Given the description of an element on the screen output the (x, y) to click on. 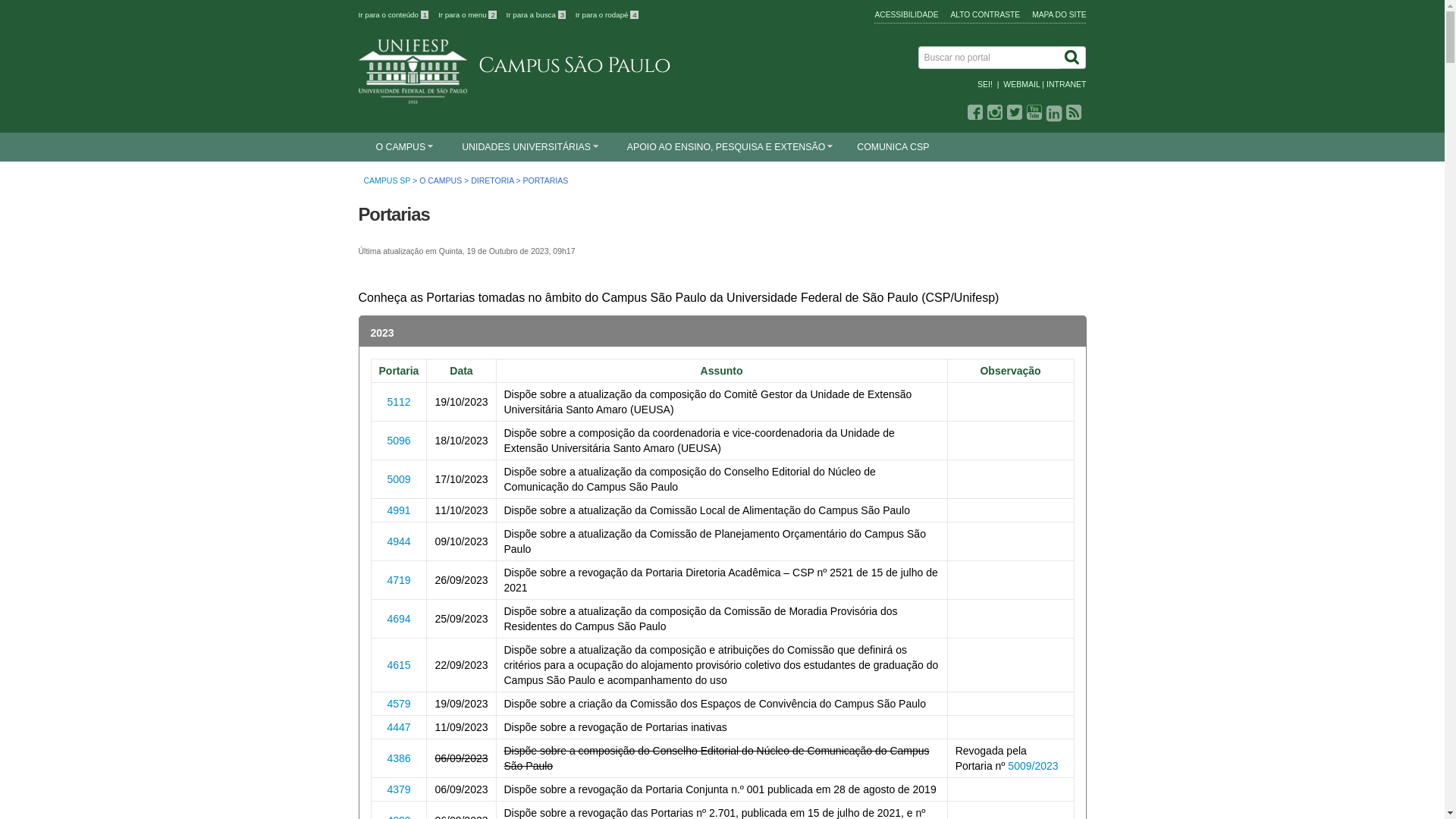
4991 Element type: text (398, 509)
CAMPUS SP Element type: text (387, 180)
4615 Element type: text (398, 664)
4379 Element type: text (398, 788)
5009 Element type: text (398, 479)
INTRANET Element type: text (1066, 83)
ACESSIBILIDADE Element type: text (906, 14)
2023 Element type: text (722, 331)
MAPA DO SITE Element type: text (1058, 14)
Ir para o menu 2 Element type: text (468, 14)
Ir para a busca 3 Element type: text (536, 14)
4694 Element type: text (398, 618)
5112 Element type: text (398, 401)
Portarias Element type: text (393, 213)
4944 Element type: text (398, 541)
4579 Element type: text (398, 703)
COMUNICA CSP Element type: text (892, 146)
5009/2023 Element type: text (1032, 765)
4719 Element type: text (398, 579)
Buscar no portal Element type: hover (989, 57)
WEBMAIL Element type: text (1021, 83)
ALTO CONTRASTE Element type: text (985, 14)
SEI! Element type: text (984, 83)
4447 Element type: text (398, 726)
5096 Element type: text (398, 439)
4386 Element type: text (398, 758)
